Given the description of an element on the screen output the (x, y) to click on. 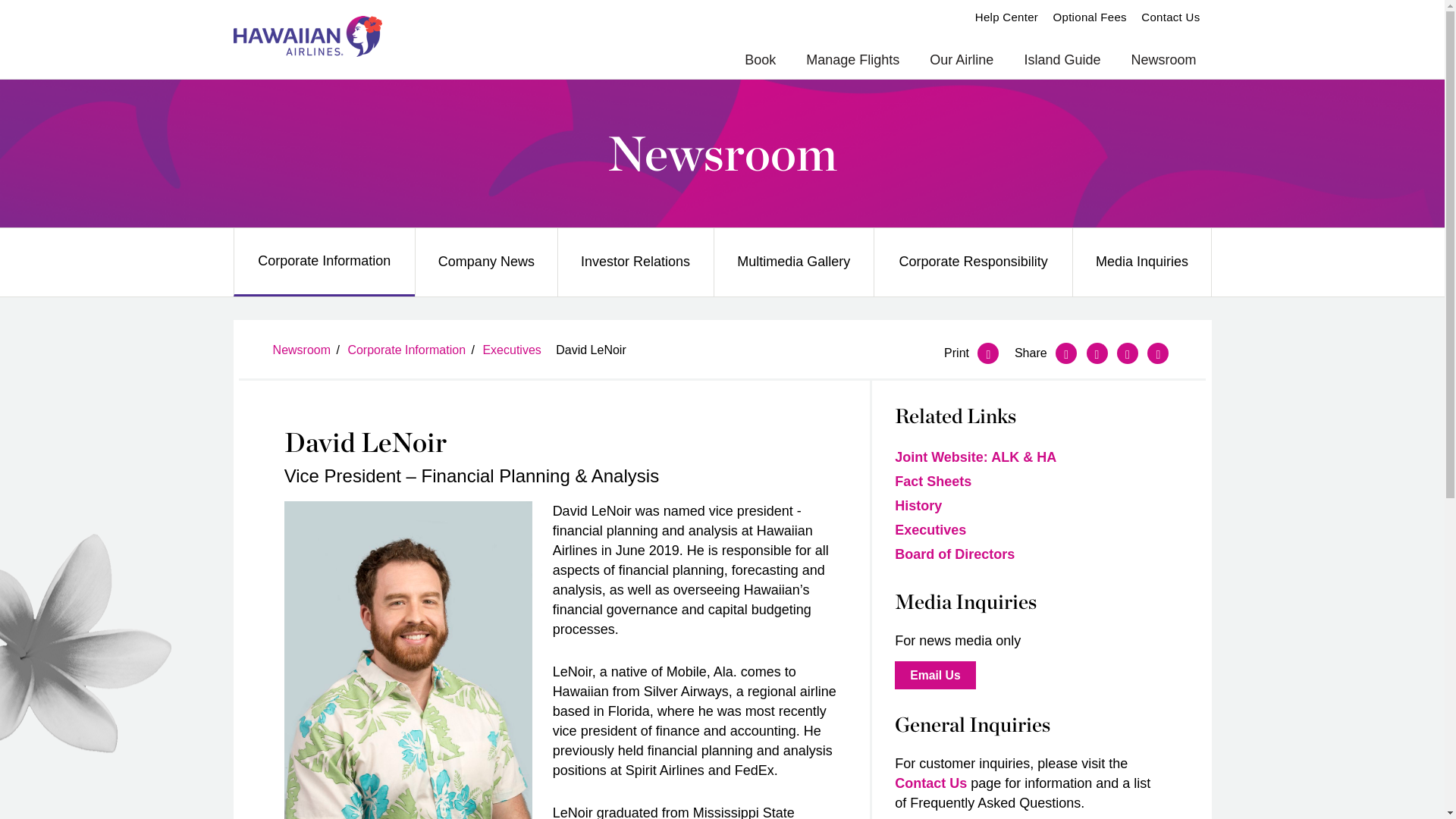
Corporate Responsibility (974, 261)
Manage Flights (852, 61)
Optional Fees (1089, 16)
Island Guide (1061, 61)
Company News (485, 261)
Corporate Information (323, 261)
Newsroom (722, 152)
Newsroom (1163, 61)
Our Airline (961, 61)
Book (760, 61)
